Given the description of an element on the screen output the (x, y) to click on. 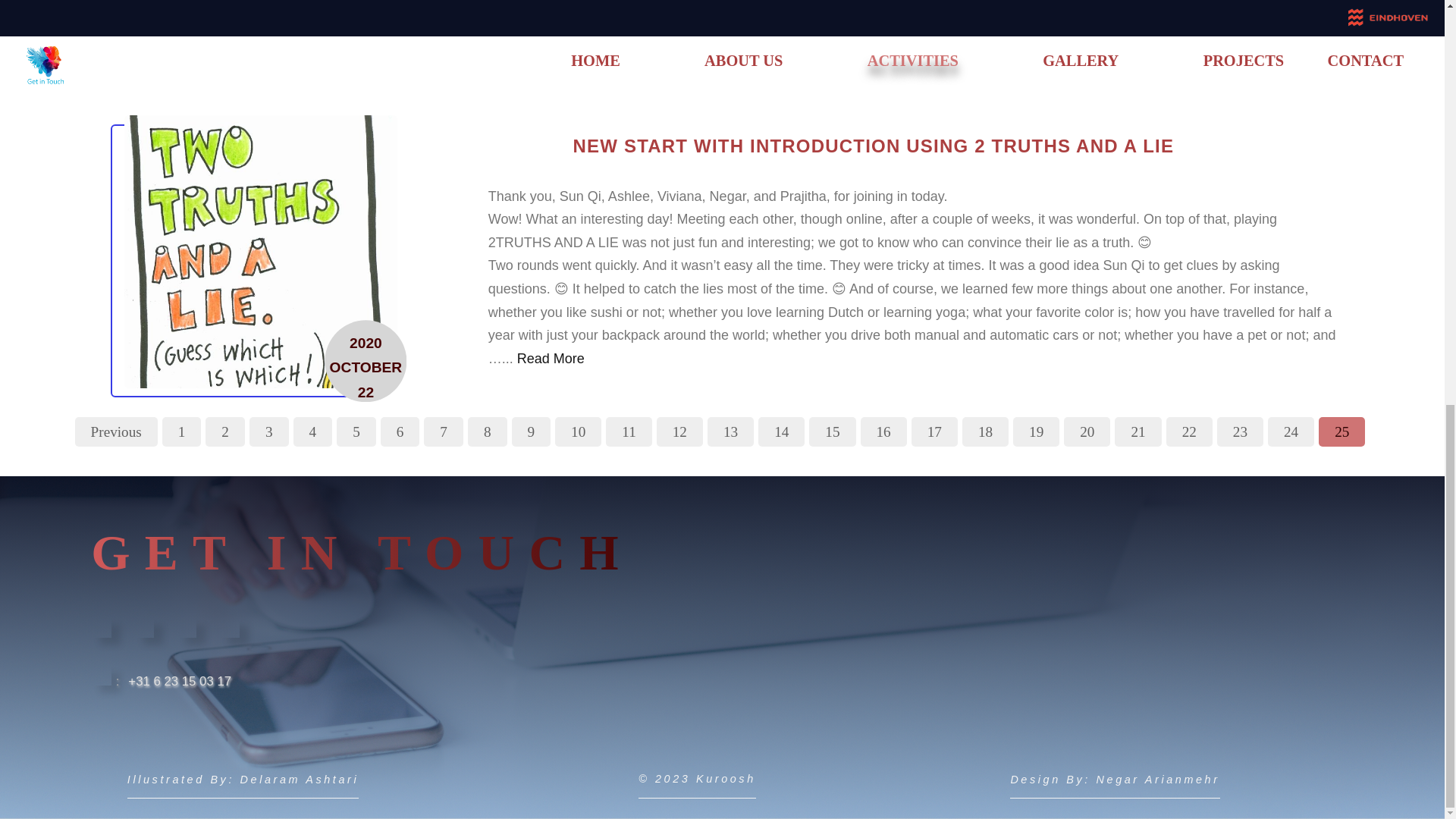
10 (577, 431)
14 (781, 431)
Previous (116, 431)
Read More (945, 31)
18 (985, 431)
3 (268, 431)
17 (934, 431)
4 (313, 431)
1 (181, 431)
20 (1086, 431)
22 (1189, 431)
13 (730, 431)
15 (832, 431)
11 (627, 431)
8 (486, 431)
